Given the description of an element on the screen output the (x, y) to click on. 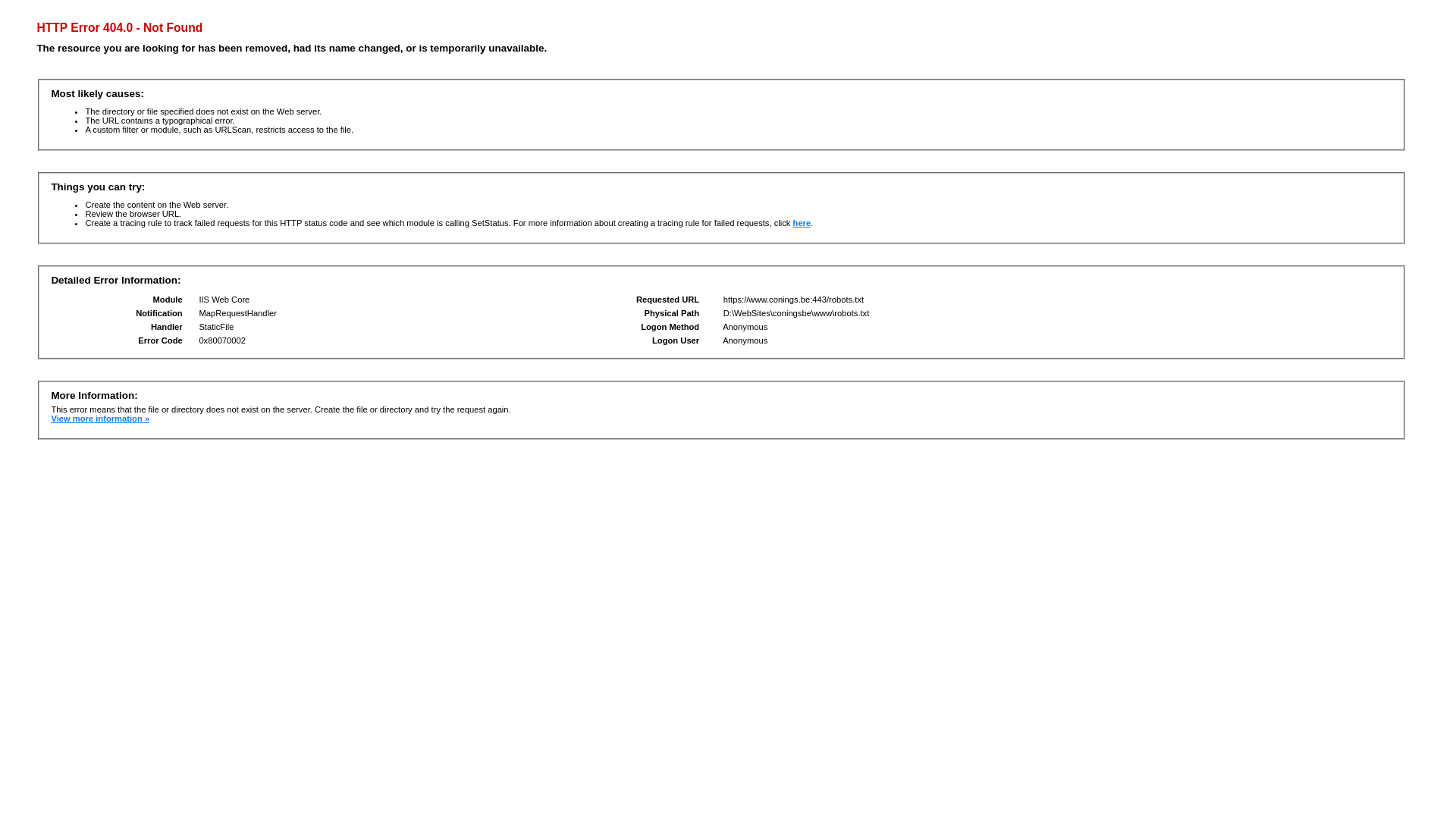
here Element type: text (802, 222)
